Given the description of an element on the screen output the (x, y) to click on. 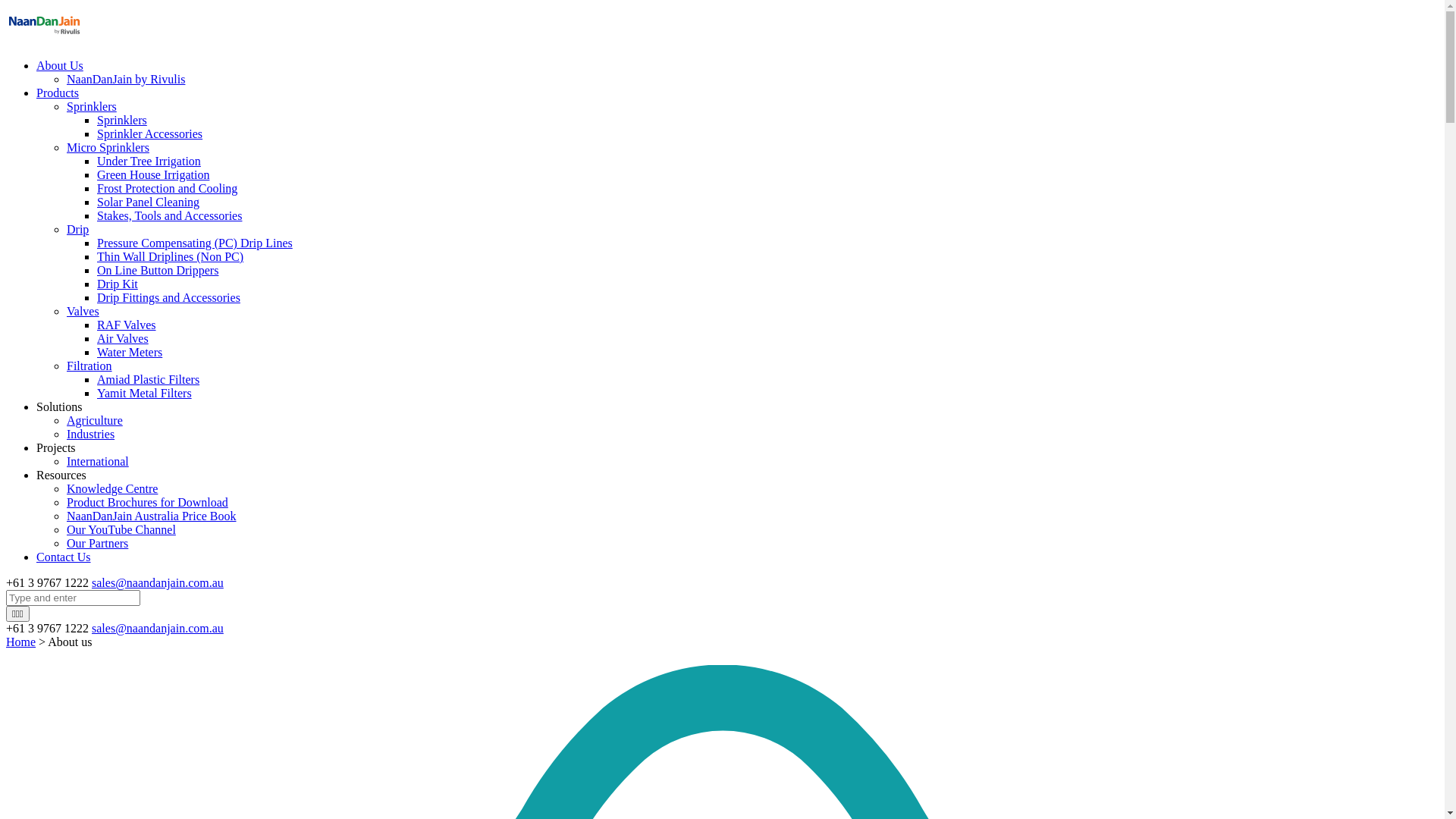
Frost Protection and Cooling Element type: text (167, 188)
Our YouTube Channel Element type: text (120, 529)
Solar Panel Cleaning Element type: text (148, 201)
NaanDanJain Australia Element type: hover (43, 39)
Resources Element type: text (61, 474)
Drip Kit Element type: text (117, 283)
RAF Valves Element type: text (126, 324)
Filtration Element type: text (89, 365)
Green House Irrigation Element type: text (153, 174)
Solutions Element type: text (58, 406)
Home Element type: text (20, 641)
Sprinklers Element type: text (91, 106)
Drip Fittings and Accessories Element type: text (168, 297)
About Us Element type: text (59, 65)
sales@naandanjain.com.au Element type: text (157, 627)
NaanDanJain by Rivulis Element type: text (125, 78)
Amiad Plastic Filters Element type: text (148, 379)
Projects Element type: text (55, 447)
Product Brochures for Download Element type: text (147, 501)
Our Partners Element type: text (97, 542)
Stakes, Tools and Accessories Element type: text (169, 215)
Industries Element type: text (90, 433)
Air Valves Element type: text (122, 338)
On Line Button Drippers Element type: text (157, 269)
Yamit Metal Filters Element type: text (144, 392)
International Element type: text (97, 461)
sales@naandanjain.com.au Element type: text (157, 582)
Contact Us Element type: text (63, 556)
Valves Element type: text (82, 310)
NaanDanJain Australia Price Book Element type: text (151, 515)
Micro Sprinklers Element type: text (107, 147)
Water Meters Element type: text (129, 351)
Under Tree Irrigation Element type: text (148, 160)
Drip Element type: text (77, 228)
Sprinklers Element type: text (122, 119)
Products Element type: text (57, 92)
Sprinkler Accessories Element type: text (149, 133)
Pressure Compensating (PC) Drip Lines Element type: text (194, 242)
Knowledge Centre Element type: text (111, 488)
Thin Wall Driplines (Non PC) Element type: text (170, 256)
Agriculture Element type: text (94, 420)
